Given the description of an element on the screen output the (x, y) to click on. 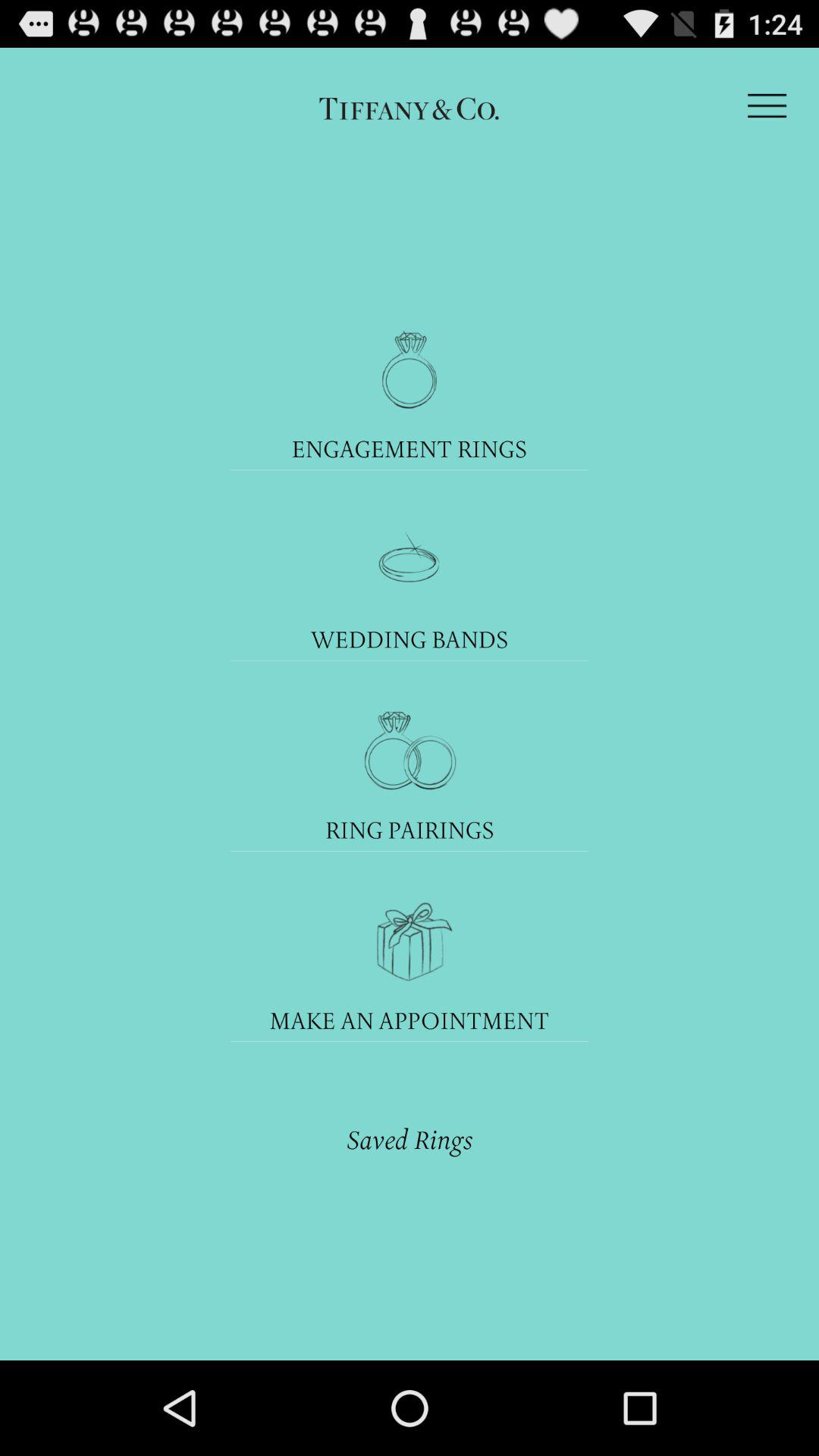
jump to make an appointment icon (409, 1020)
